Given the description of an element on the screen output the (x, y) to click on. 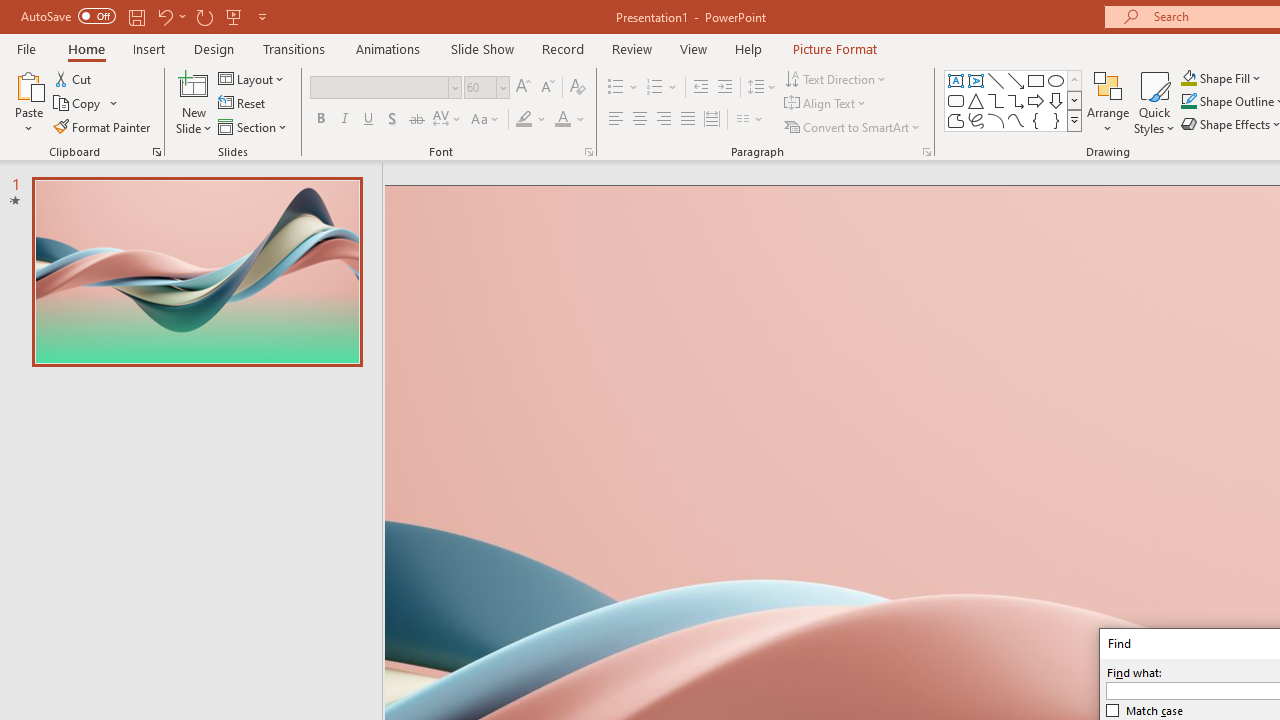
Shape Fill Orange, Accent 2 (1188, 78)
Bullets (623, 87)
Text Box (955, 80)
Decrease Indent (700, 87)
Shapes (1074, 120)
Rectangle: Rounded Corners (955, 100)
Layout (252, 78)
Numbering (654, 87)
Shape Fill (1221, 78)
Copy (78, 103)
Right Brace (1055, 120)
Bullets (616, 87)
Strikethrough (416, 119)
Slide (196, 271)
